Given the description of an element on the screen output the (x, y) to click on. 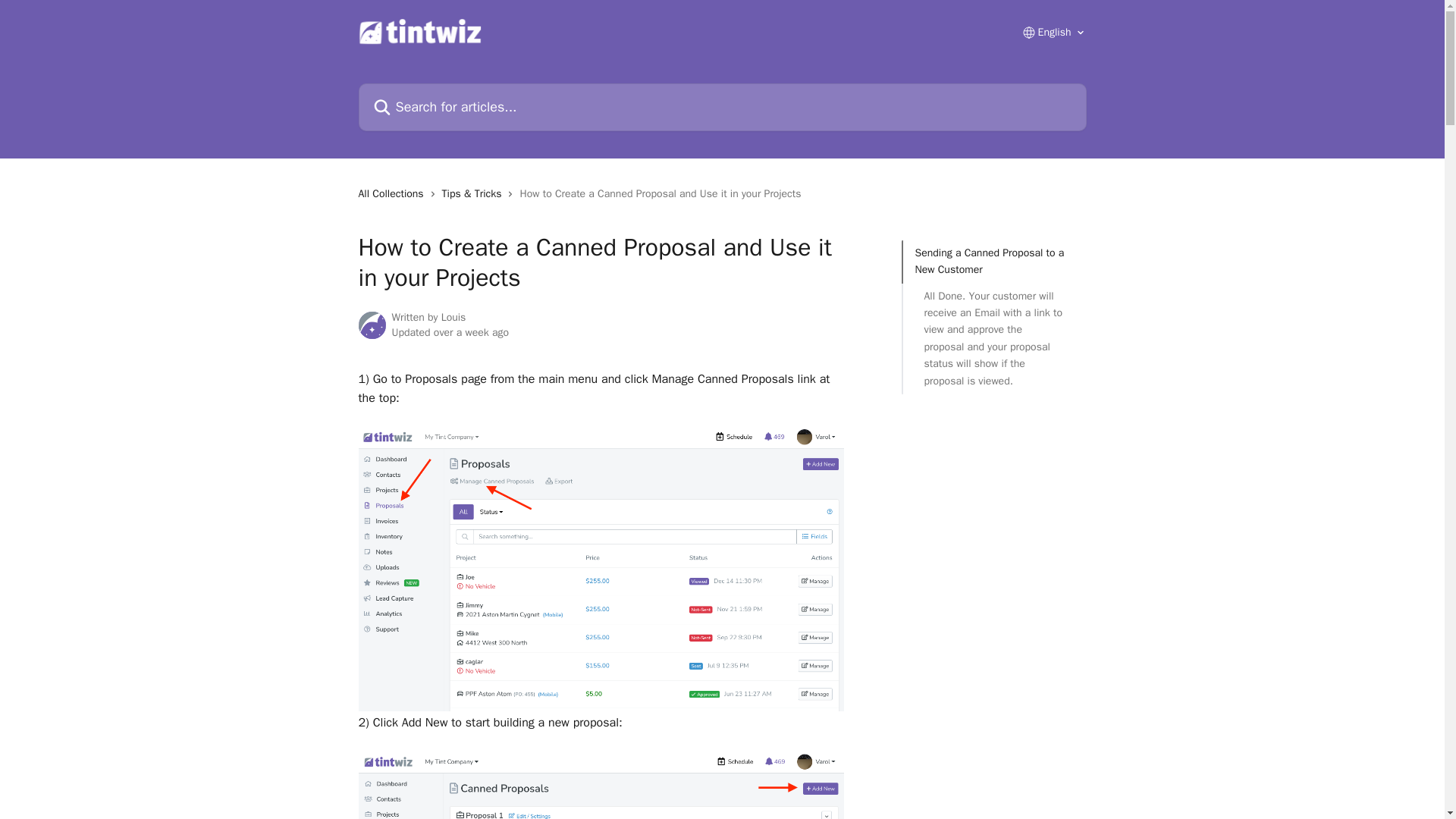
All Collections (393, 193)
Sending a Canned Proposal to a New Customer (994, 261)
